Given the description of an element on the screen output the (x, y) to click on. 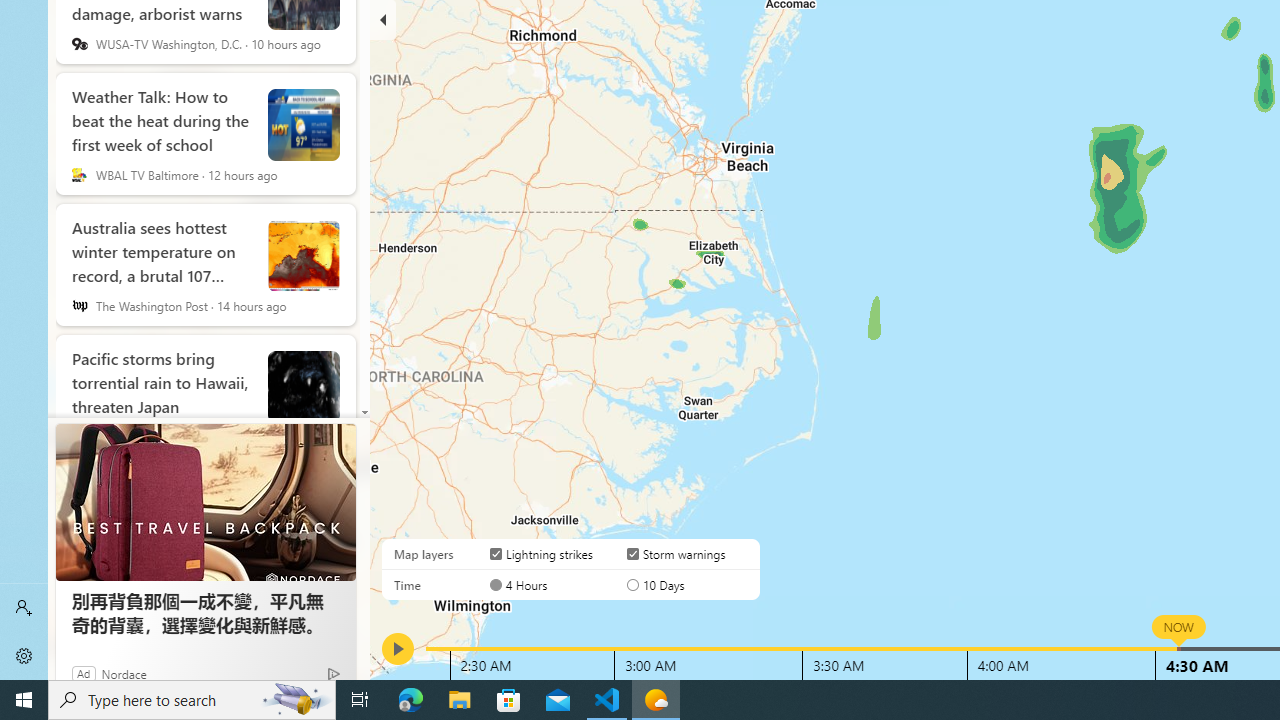
Settings (24, 655)
Sign in (24, 607)
Weather - 1 running window (656, 699)
